Given the description of an element on the screen output the (x, y) to click on. 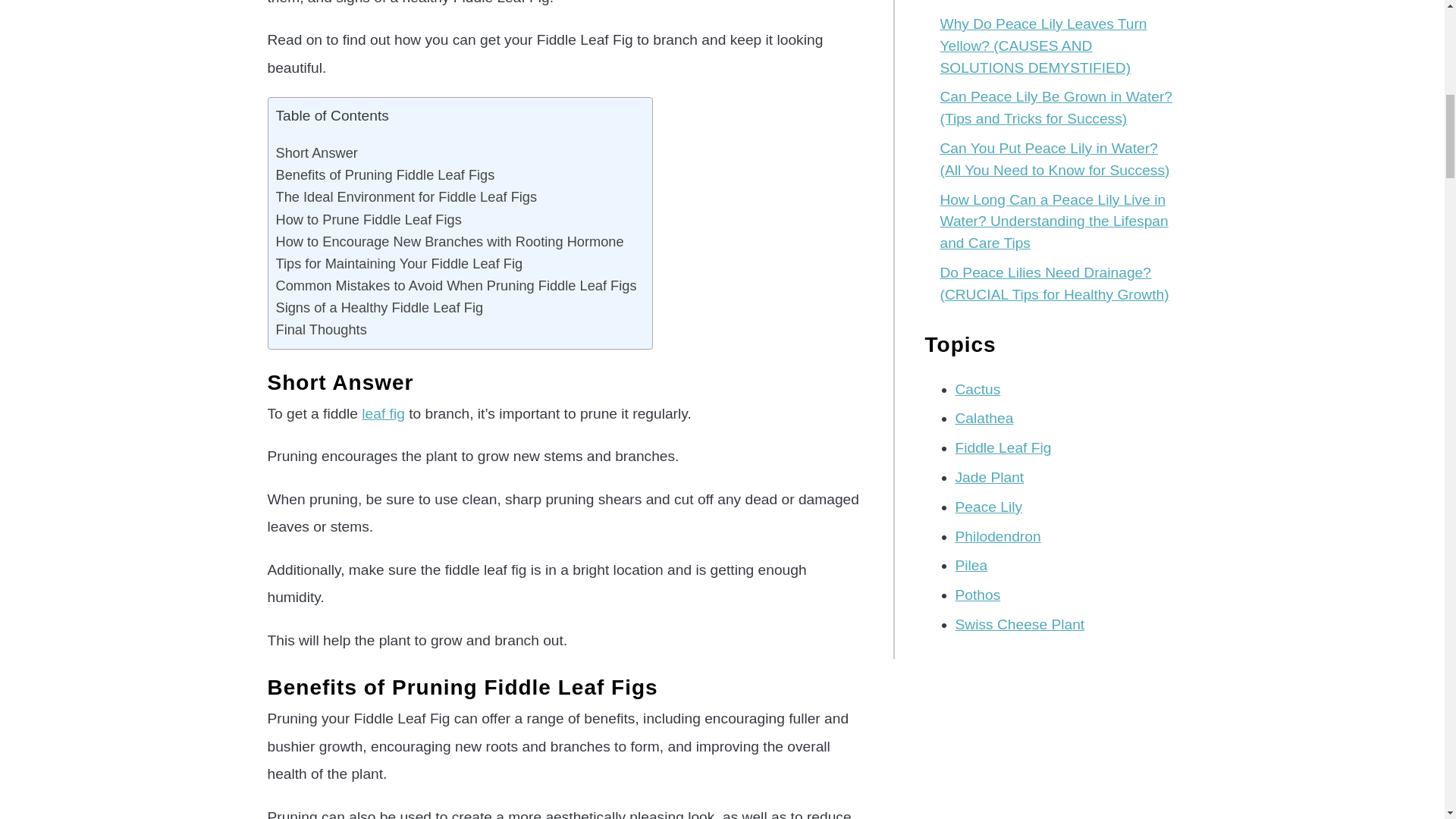
Common Mistakes to Avoid When Pruning Fiddle Leaf Figs (456, 285)
Benefits of Pruning Fiddle Leaf Figs (385, 174)
Common Mistakes to Avoid When Pruning Fiddle Leaf Figs (456, 285)
Peace Lily (989, 506)
Cactus (978, 389)
Tips for Maintaining Your Fiddle Leaf Fig (399, 263)
How to Encourage New Branches with Rooting Hormone (450, 241)
Short Answer (317, 152)
Calathea (984, 417)
